Given the description of an element on the screen output the (x, y) to click on. 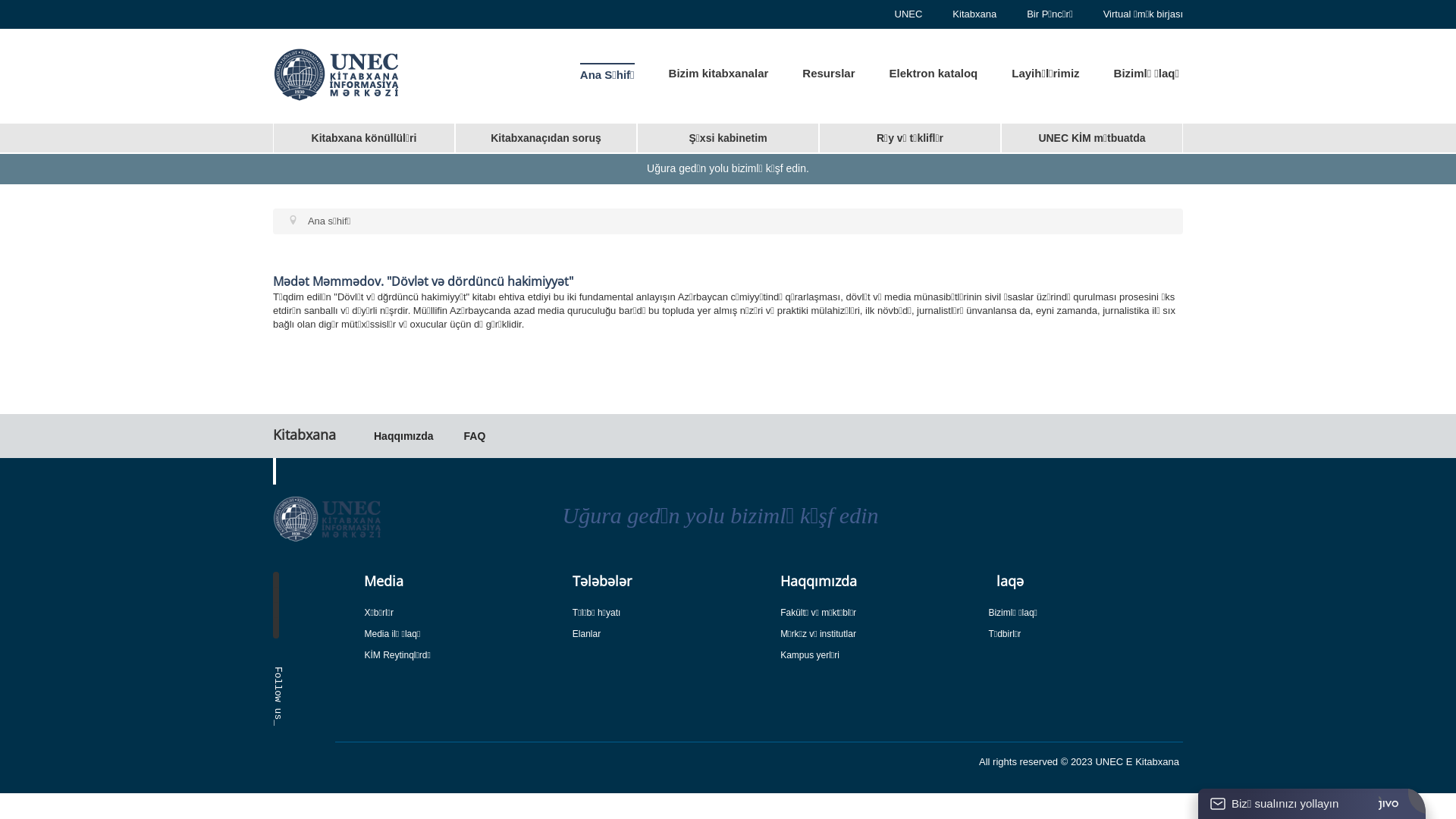
Kitabxana Element type: text (974, 14)
Elanlar Element type: text (669, 633)
Resurslar Element type: text (828, 71)
Elektron kataloq Element type: text (933, 71)
Bizim kitabxanalar Element type: text (718, 71)
UNEC Element type: text (908, 14)
FAQ Element type: text (475, 435)
